Given the description of an element on the screen output the (x, y) to click on. 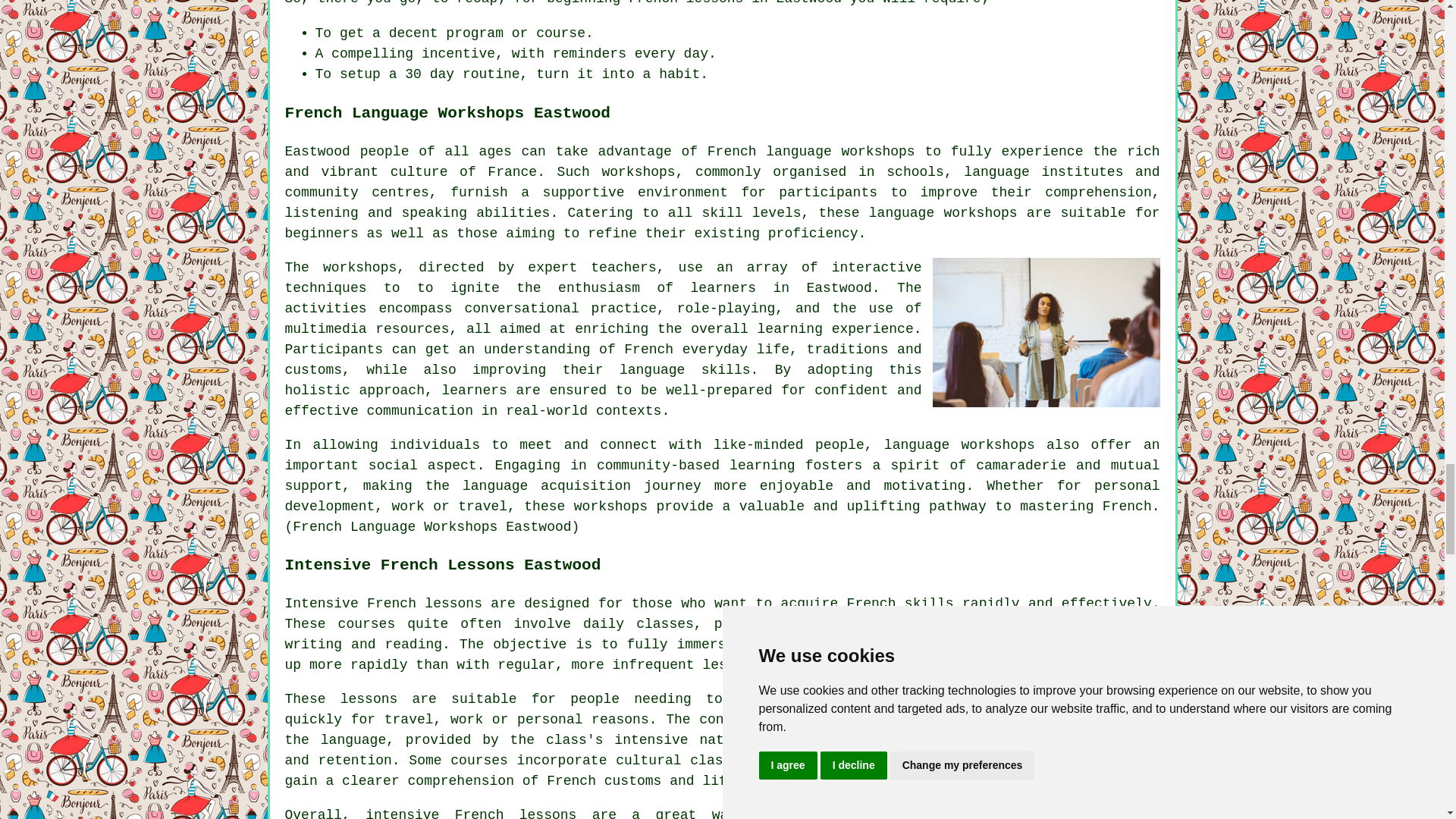
French Language Workshops Eastwood (1046, 332)
French lessons (515, 813)
language workshops (959, 444)
French language workshops (811, 151)
Intensive French Lessons Eastwood (1046, 754)
workshops (359, 267)
